Given the description of an element on the screen output the (x, y) to click on. 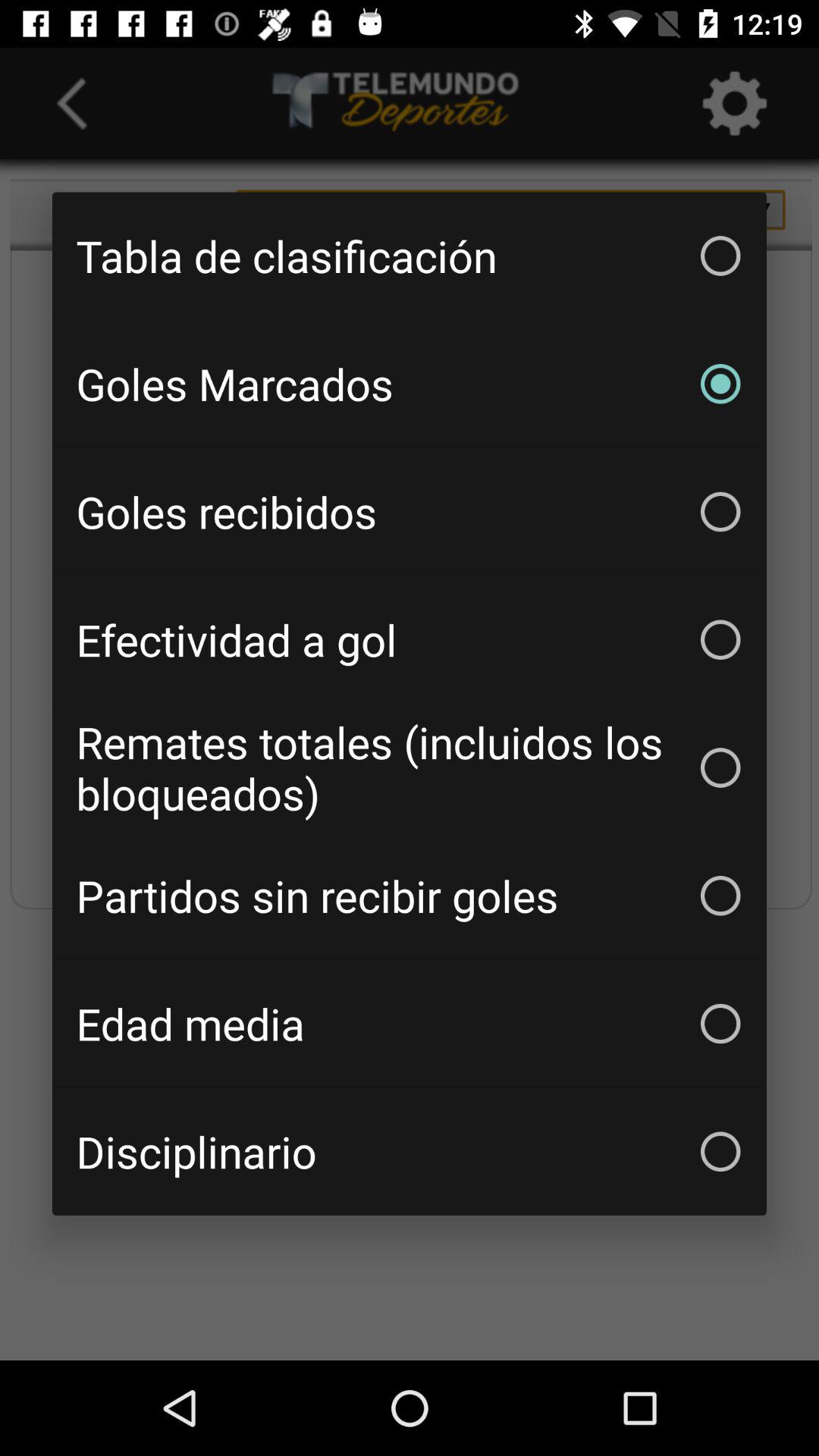
open the disciplinario item (409, 1151)
